Given the description of an element on the screen output the (x, y) to click on. 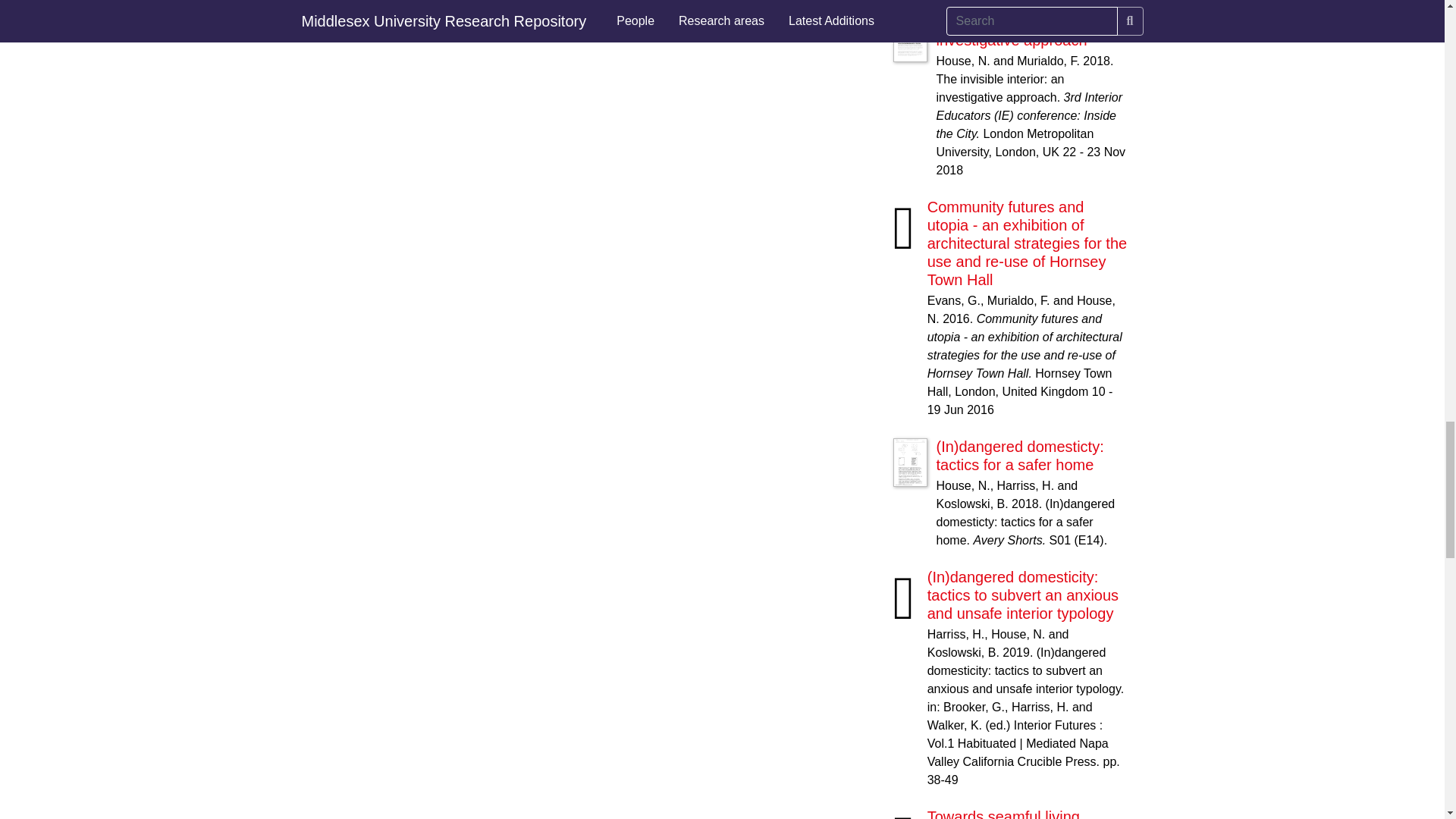
Towards seamful living (1003, 813)
The invisible interior: an investigative approach (1016, 30)
